Given the description of an element on the screen output the (x, y) to click on. 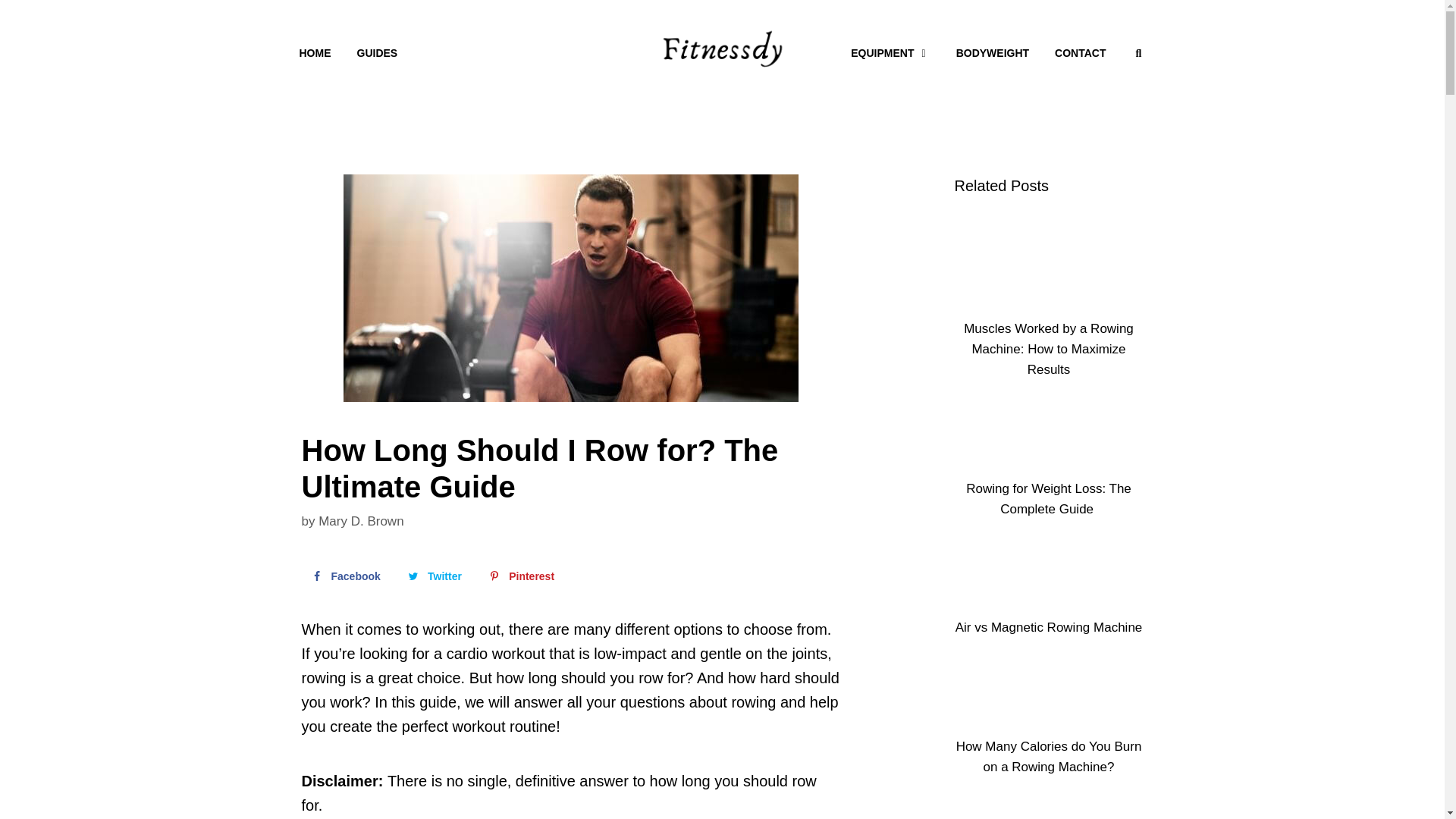
EQUIPMENT (890, 53)
Pinterest (519, 576)
Twitter (432, 576)
Mary D. Brown (360, 521)
MENU ITEM SEPARATOR (624, 53)
CONTACT (1080, 53)
Share on Facebook (344, 576)
Save to Pinterest (519, 576)
Facebook (344, 576)
HOME (314, 53)
